Given the description of an element on the screen output the (x, y) to click on. 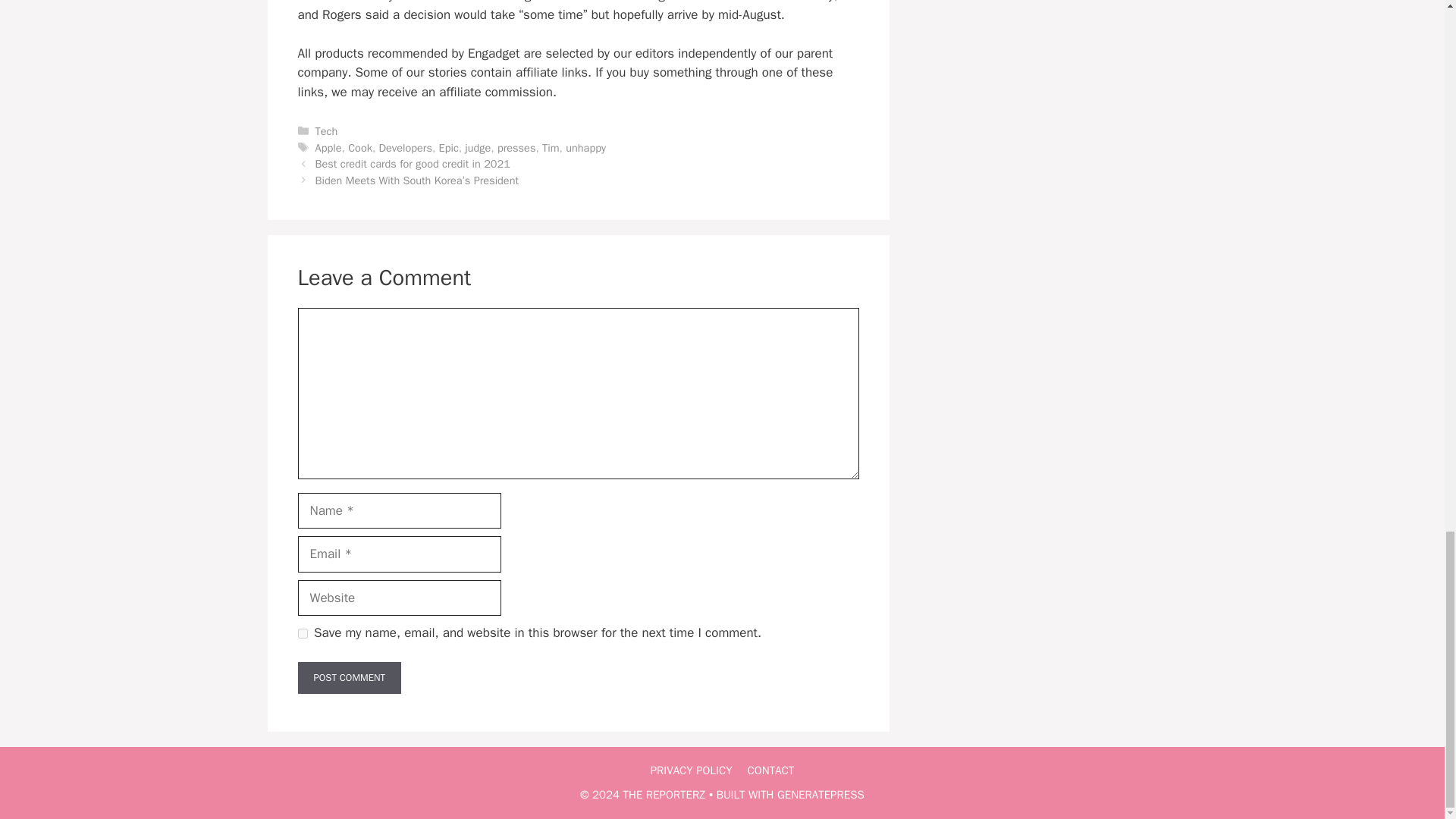
CONTACT (771, 770)
Tech (326, 131)
Developers (405, 147)
yes (302, 633)
Post Comment (349, 677)
Epic (448, 147)
GENERATEPRESS (820, 794)
Tim (550, 147)
Cook (359, 147)
Next (416, 180)
